Given the description of an element on the screen output the (x, y) to click on. 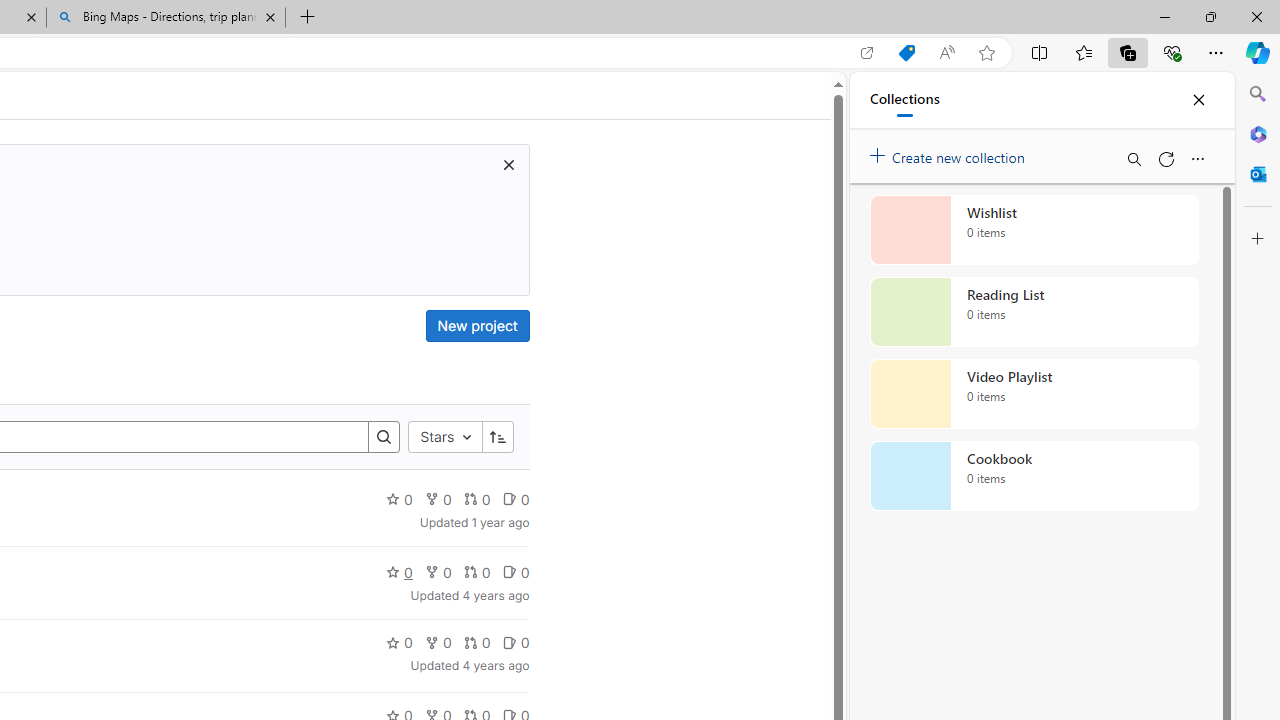
Video Playlist collection, 0 items (1034, 394)
More options menu (1197, 158)
Dismiss trial promotion (508, 164)
Shopping in Microsoft Edge (906, 53)
0 (515, 642)
Outlook (1258, 174)
Create new collection (950, 153)
Stars (445, 437)
Class: s16 gl-icon gl-button-icon  (508, 164)
Reading List collection, 0 items (1034, 312)
